Given the description of an element on the screen output the (x, y) to click on. 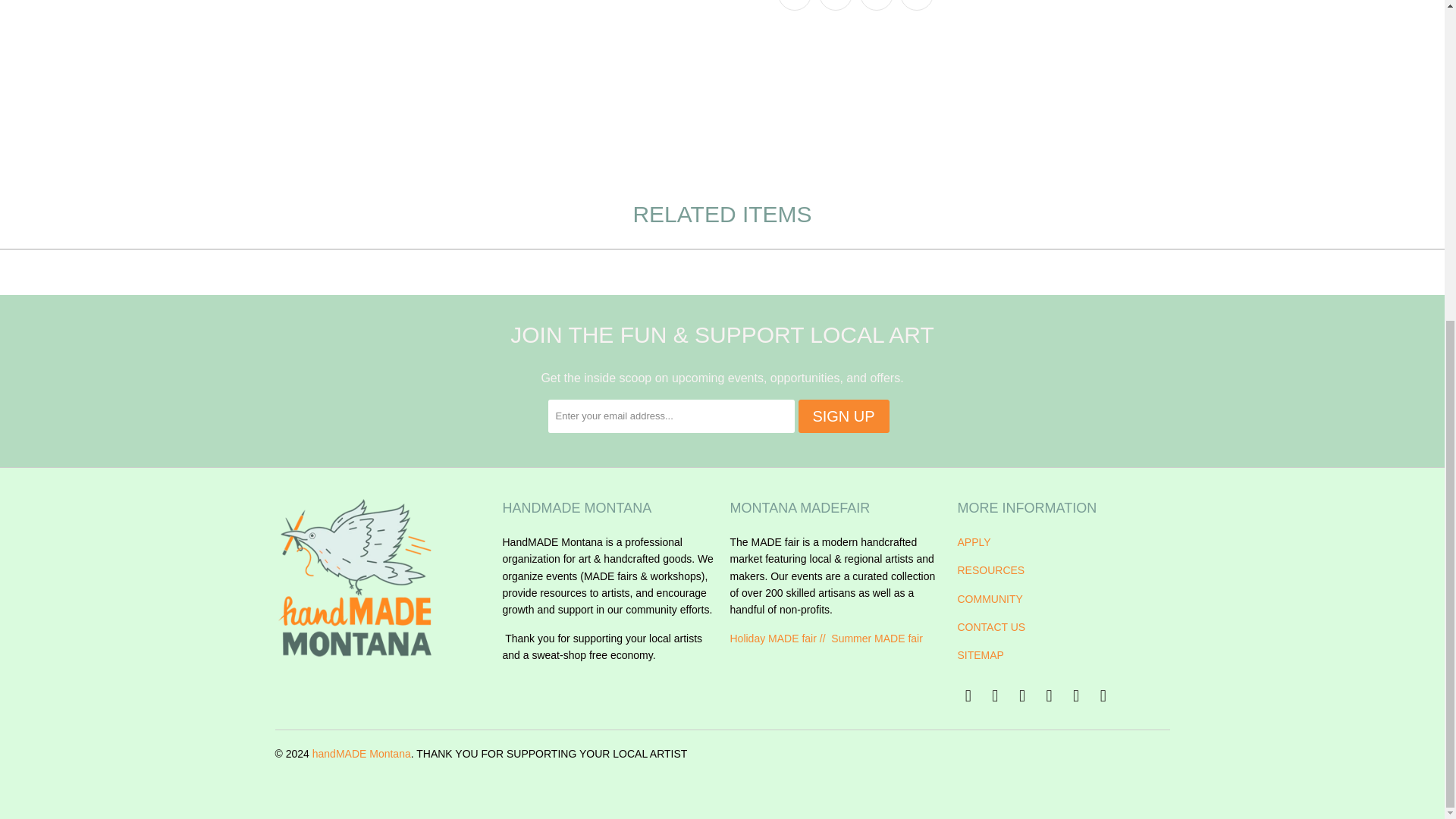
Sign Up (842, 416)
